Given the description of an element on the screen output the (x, y) to click on. 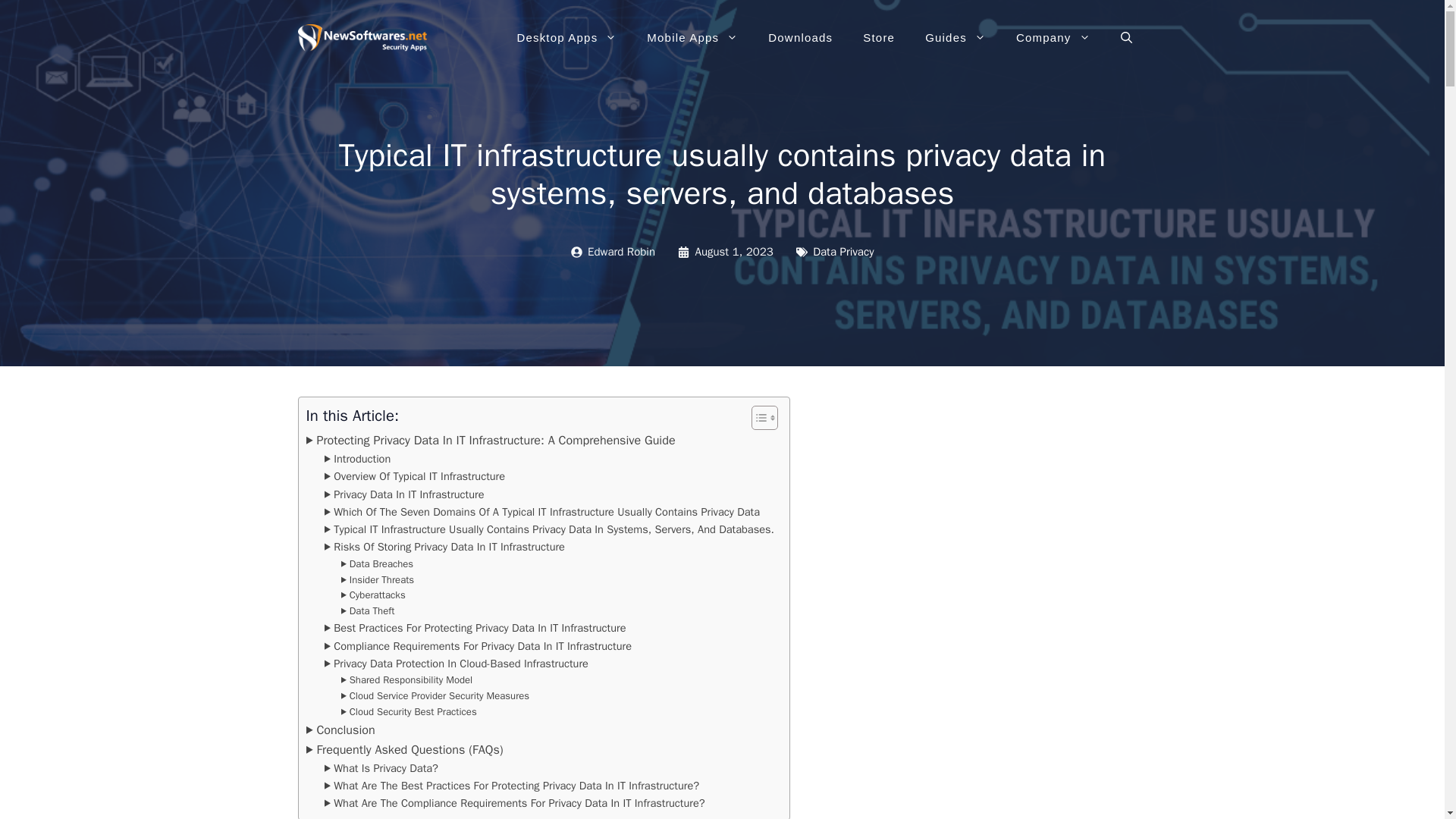
Data Breaches (376, 564)
Cloud Security Best Practices (408, 712)
Privacy Data In IT Infrastructure (404, 494)
Introduction (357, 458)
Company (1053, 37)
Conclusion (340, 730)
Cyberattacks (373, 595)
Insider Threats (377, 580)
Overview Of Typical IT Infrastructure (414, 476)
Cloud Service Provider Security Measures (434, 696)
Privacy Data Protection In Cloud-Based Infrastructure (456, 663)
Mobile Apps (691, 37)
Store (878, 37)
